Given the description of an element on the screen output the (x, y) to click on. 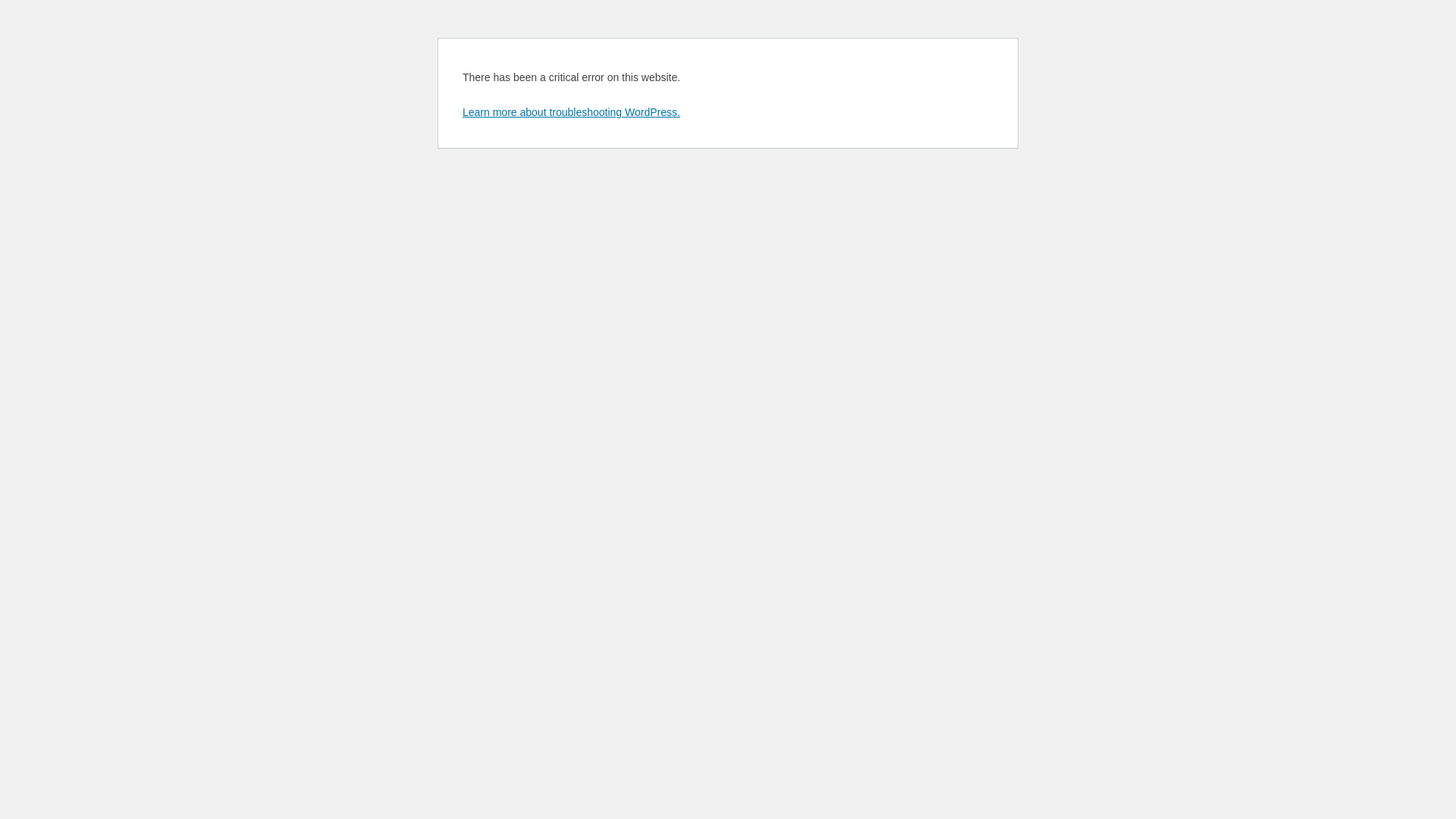
Learn more about troubleshooting WordPress. Element type: text (571, 112)
